Given the description of an element on the screen output the (x, y) to click on. 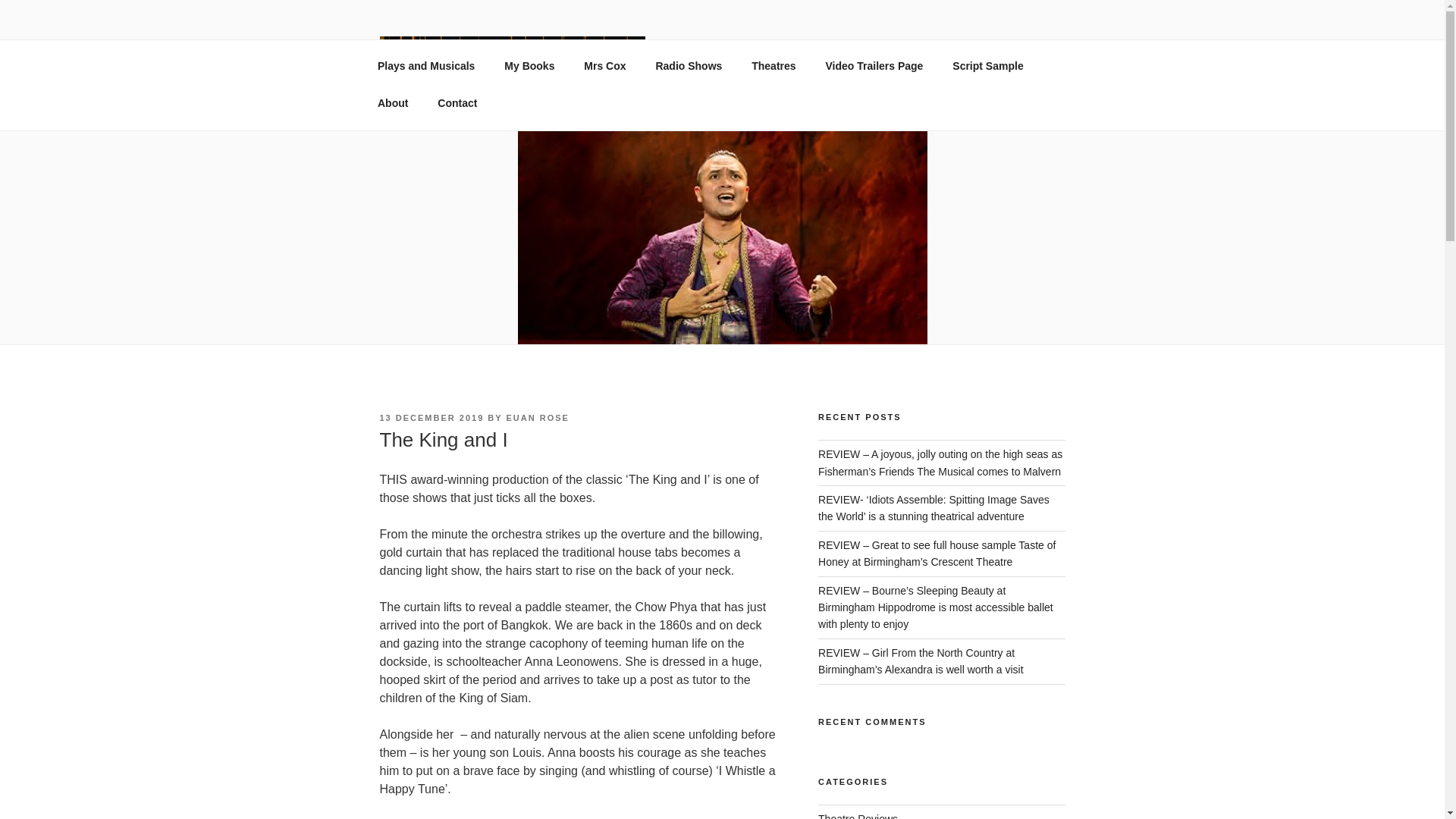
Plays and Musicals (425, 66)
Theatres (773, 66)
EUAN ROSE REVIEWS (544, 111)
About (392, 103)
13 DECEMBER 2019 (430, 417)
Contact (457, 103)
Video Trailers Page (874, 66)
Theatre Reviews (858, 816)
Radio Shows (688, 66)
Mrs Cox (604, 66)
